Given the description of an element on the screen output the (x, y) to click on. 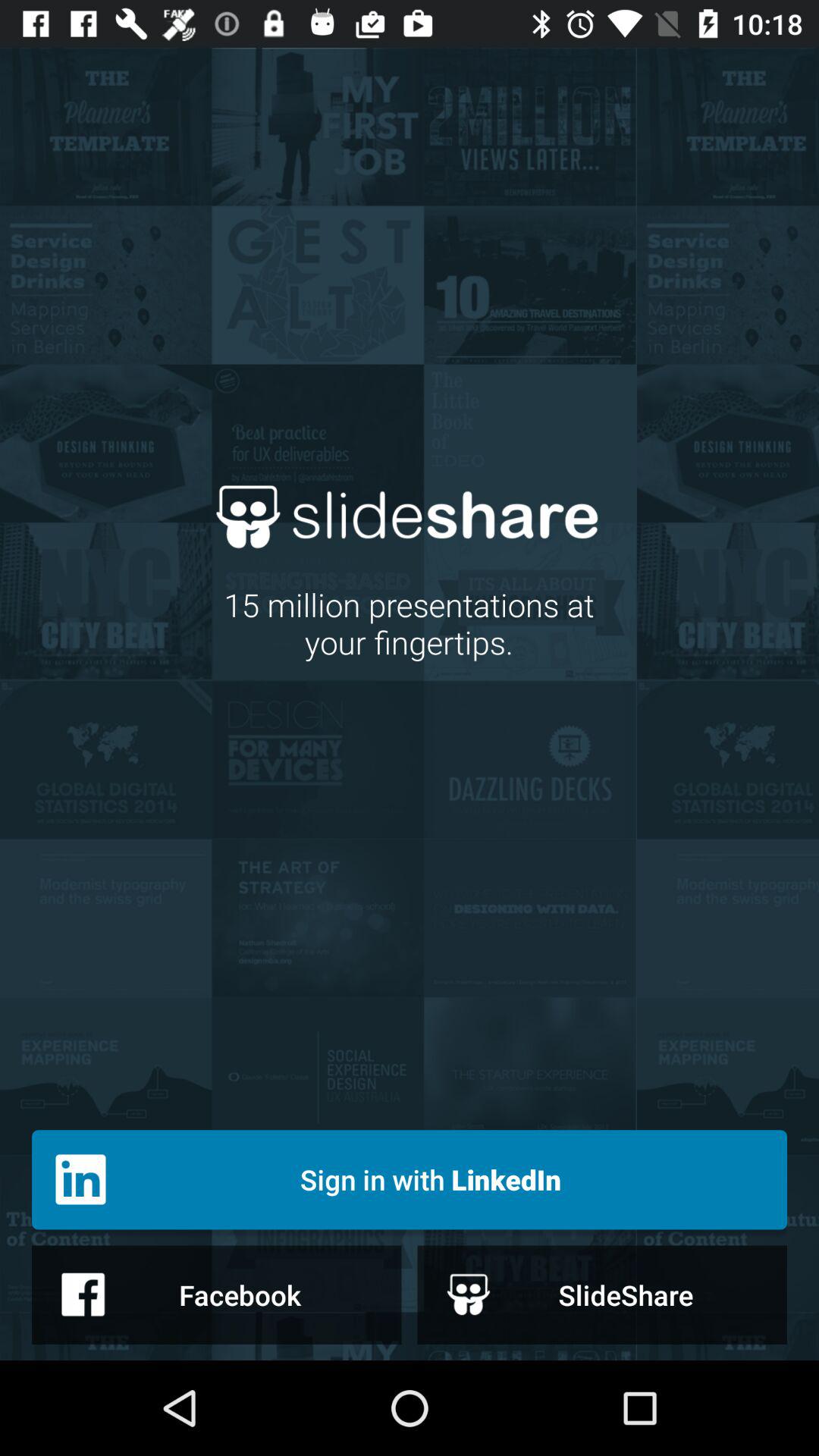
open icon to the left of slideshare item (216, 1294)
